Given the description of an element on the screen output the (x, y) to click on. 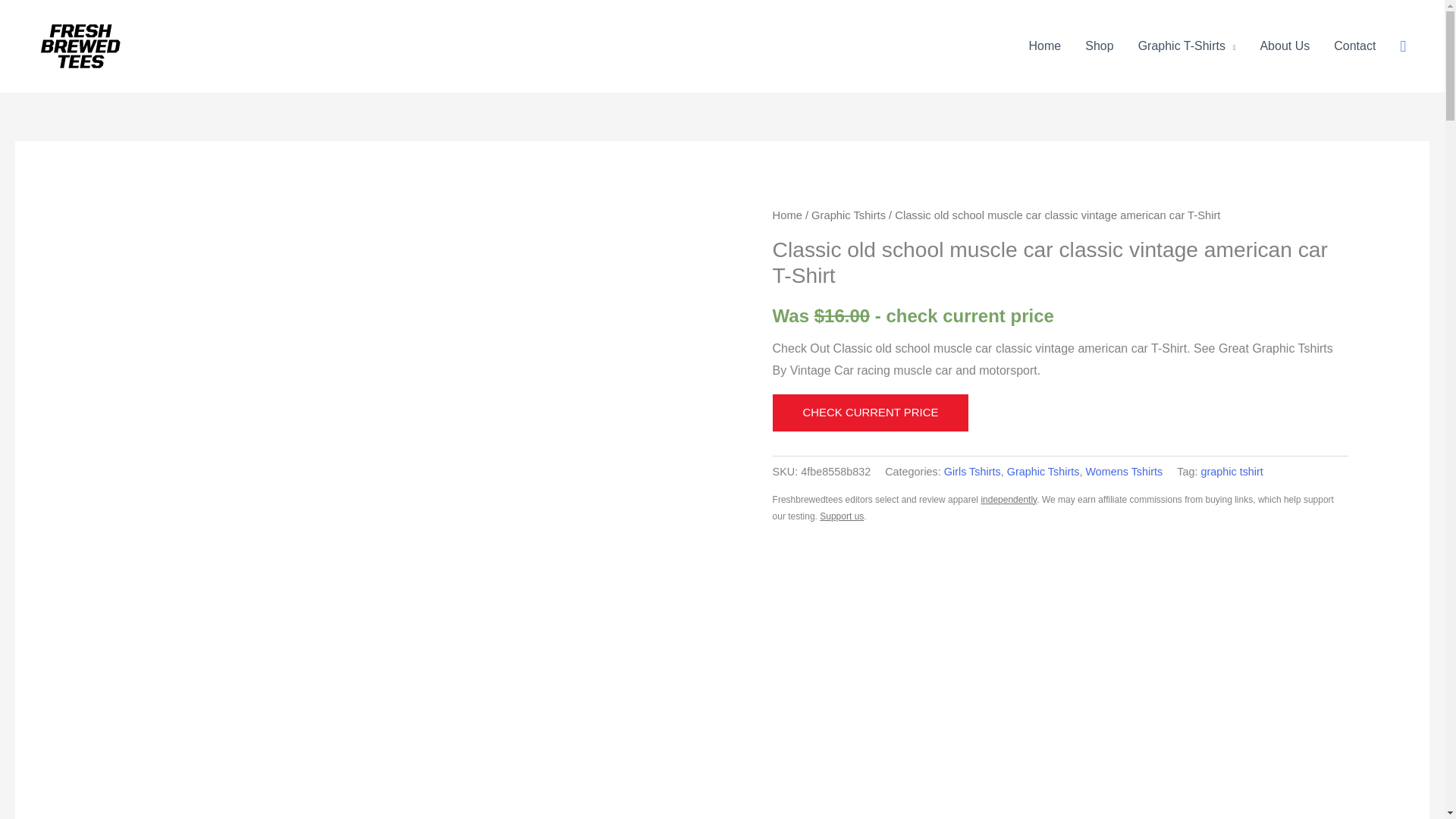
Graphic T-Shirts (1186, 46)
CHECK CURRENT PRICE (871, 412)
Girls Tshirts (972, 471)
About Us (1284, 46)
Support us (841, 516)
Graphic Tshirts (847, 215)
Contact (1354, 46)
Shop (1099, 46)
